Given the description of an element on the screen output the (x, y) to click on. 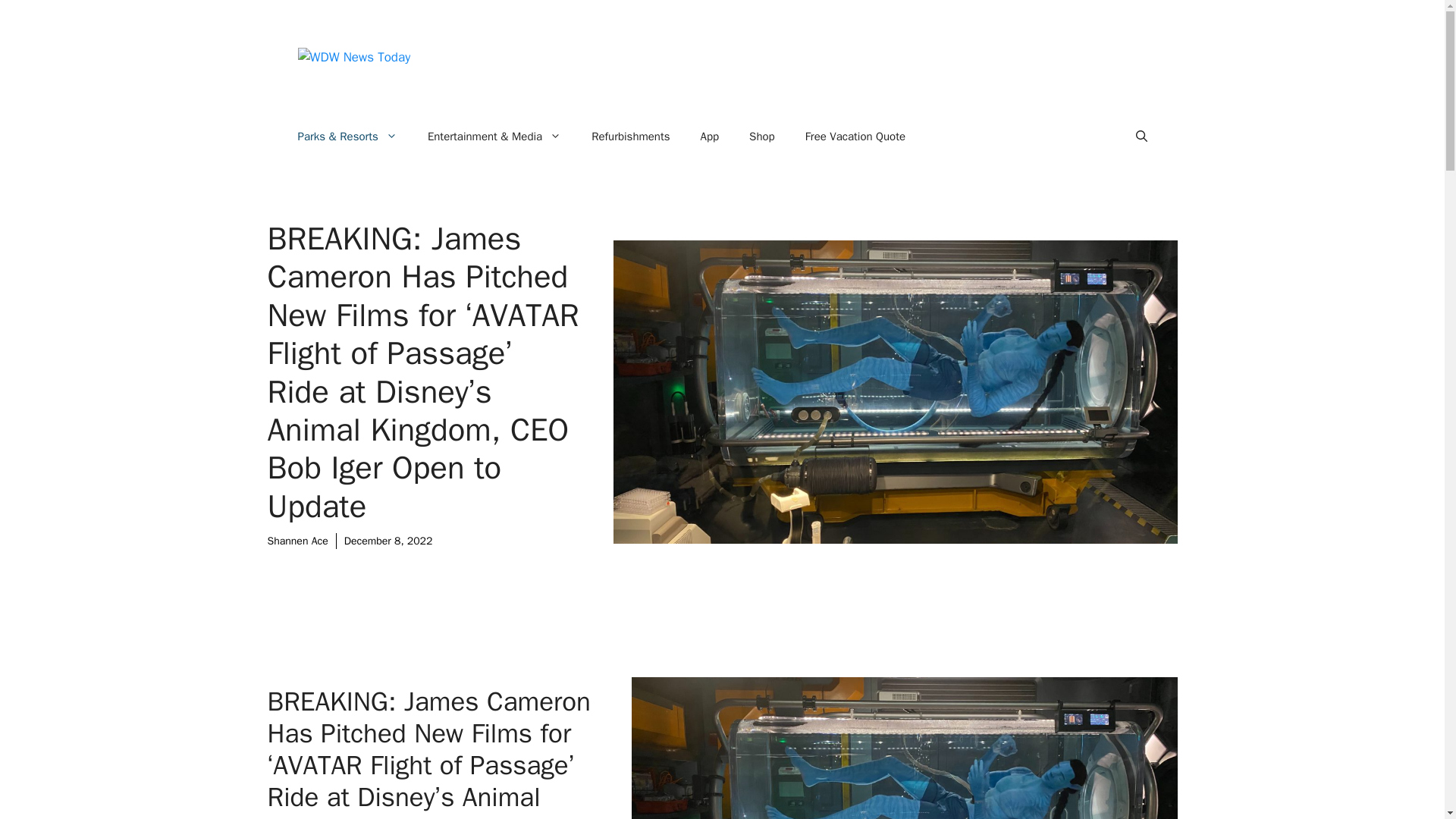
Free Vacation Quote (855, 135)
Shop (761, 135)
Refurbishments (630, 135)
App (710, 135)
